Given the description of an element on the screen output the (x, y) to click on. 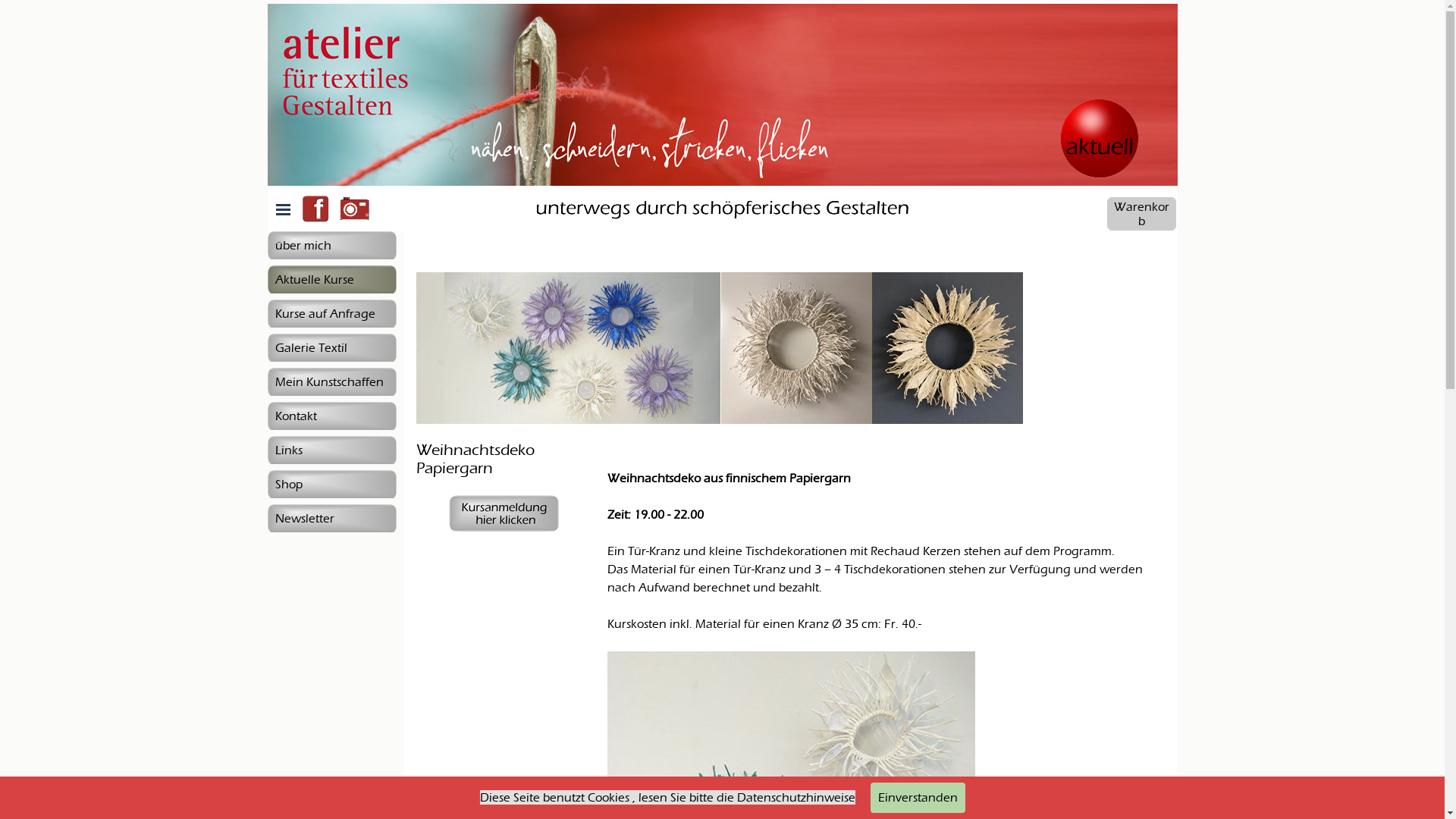
Newsletter Element type: text (331, 518)
Mein Kunstschaffen Element type: text (331, 381)
Warenkorb Element type: text (1141, 213)
Links Element type: text (331, 450)
Kontakt Element type: text (331, 415)
